Given the description of an element on the screen output the (x, y) to click on. 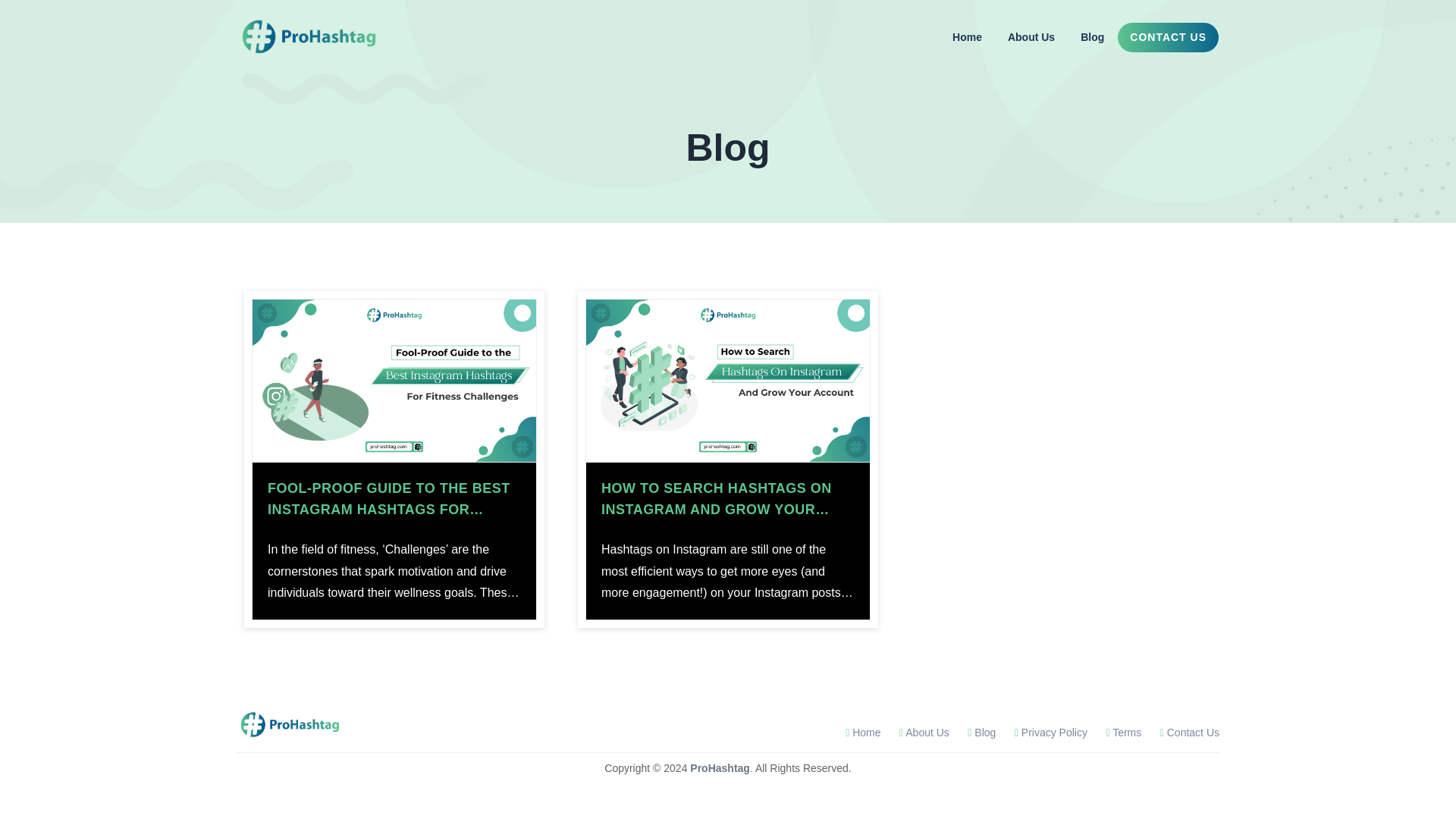
About Us (1031, 37)
Privacy Policy (1050, 732)
Home (967, 37)
Blog (1092, 37)
About Us (924, 732)
Blog (981, 732)
Home (862, 732)
CONTACT US (1168, 37)
Contact Us (1190, 732)
Terms (1123, 732)
